Given the description of an element on the screen output the (x, y) to click on. 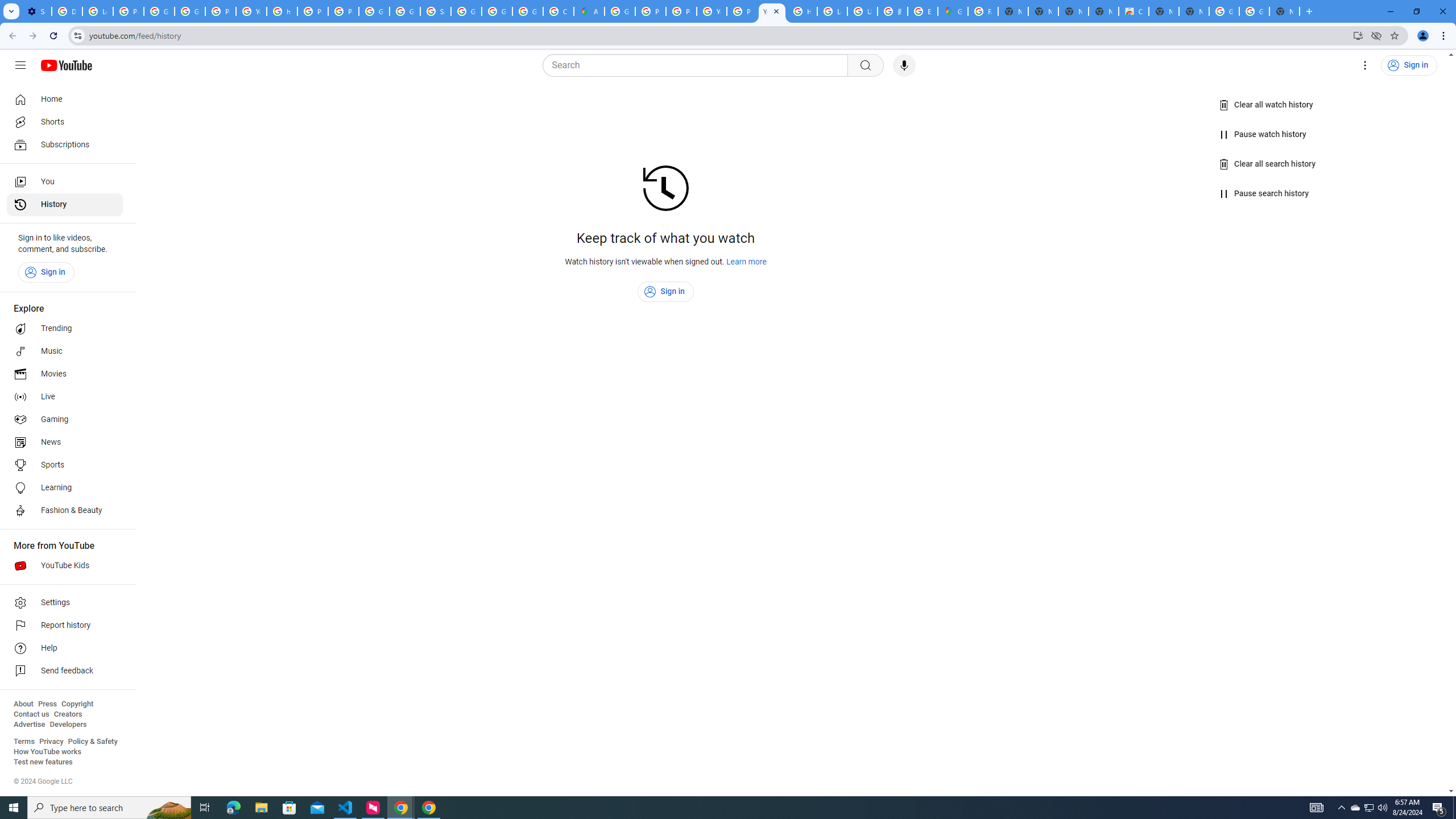
Trending (64, 328)
Third-party cookies blocked (1376, 35)
Sports (64, 464)
Music (64, 350)
Clear all search history (1267, 163)
History (64, 204)
YouTube (771, 11)
Google Images (1254, 11)
Clear all watch history (1266, 105)
Learn how to find your photos - Google Photos Help (97, 11)
Pause watch history (1263, 134)
Advertise (29, 724)
